Given the description of an element on the screen output the (x, y) to click on. 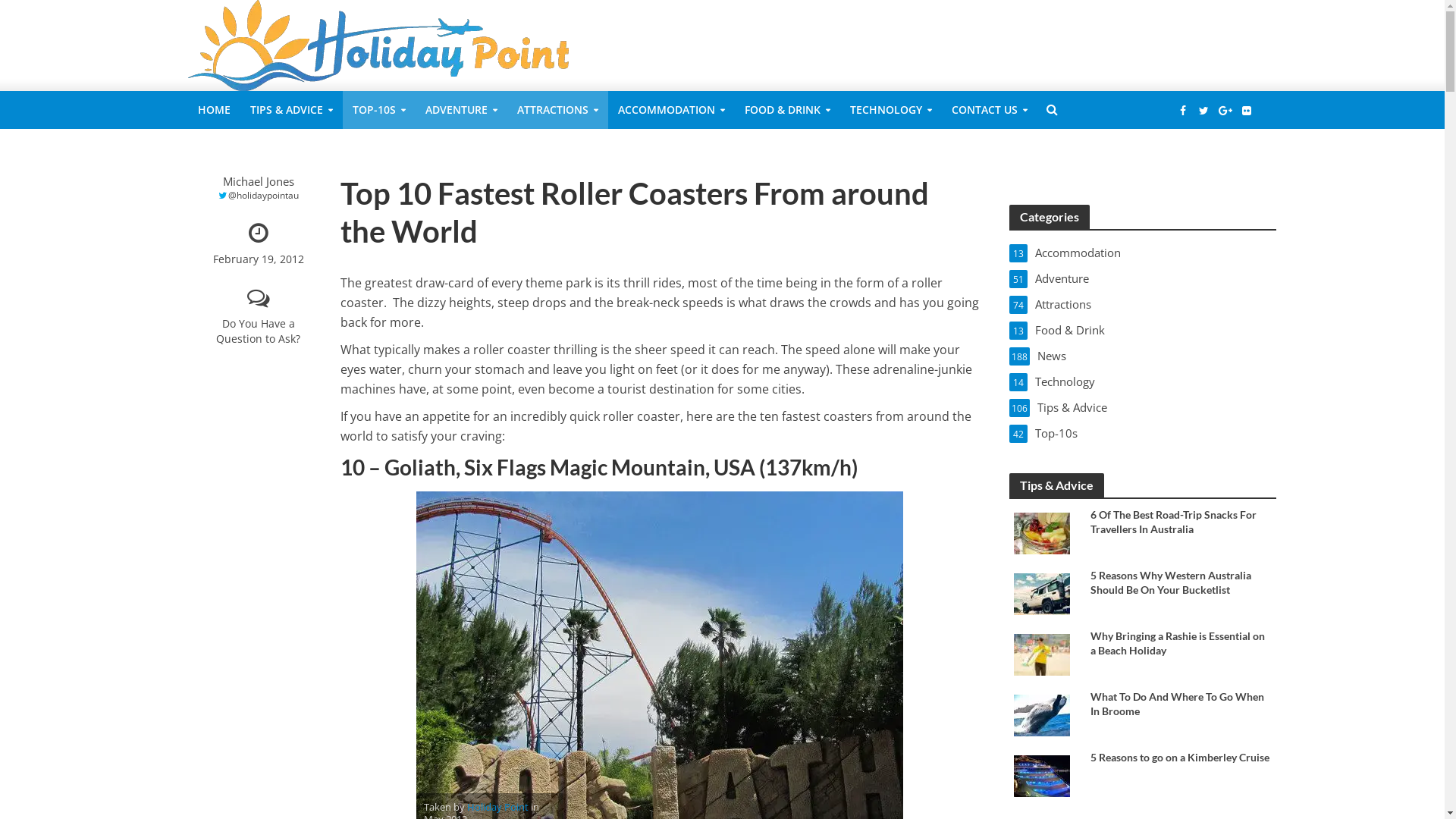
Accommodation
13 Element type: text (1142, 252)
What To Do And Where To Go When In Broome Element type: text (1180, 703)
5 Reasons to go on a Kimberley Cruise Element type: text (1180, 756)
5 Reasons Why Western Australia Should Be On Your Bucketlist Element type: hover (1041, 592)
Food & Drink
13 Element type: text (1142, 329)
ATTRACTIONS Element type: text (556, 109)
What To Do And Where To Go When In Broome Element type: hover (1041, 713)
TIPS & ADVICE Element type: text (290, 109)
ADVENTURE Element type: text (461, 109)
6 Of The Best Road-Trip Snacks For Travellers In Australia Element type: hover (1041, 531)
5 Reasons Why Western Australia Should Be On Your Bucketlist Element type: text (1180, 581)
Do You Have a Question to Ask? Element type: text (257, 318)
FOOD & DRINK Element type: text (786, 109)
ACCOMMODATION Element type: text (671, 109)
Tips & Advice
106 Element type: text (1142, 406)
@holidaypointau Element type: text (257, 195)
6 Of The Best Road-Trip Snacks For Travellers In Australia Element type: text (1180, 521)
Holiday Point Element type: text (497, 808)
Adventure
51 Element type: text (1142, 277)
Technology
14 Element type: text (1142, 381)
HOME Element type: text (214, 109)
News
188 Element type: text (1142, 355)
TOP-10S Element type: text (378, 109)
Why Bringing a Rashie is Essential on a Beach Holiday Element type: text (1180, 642)
Attractions
74 Element type: text (1142, 303)
Michael Jones Element type: text (257, 181)
CONTACT US Element type: text (989, 109)
5 Reasons to go on a Kimberley Cruise Element type: hover (1041, 774)
TECHNOLOGY Element type: text (890, 109)
Top-10s
42 Element type: text (1142, 432)
Why Bringing a Rashie is Essential on a Beach Holiday Element type: hover (1041, 653)
